Given the description of an element on the screen output the (x, y) to click on. 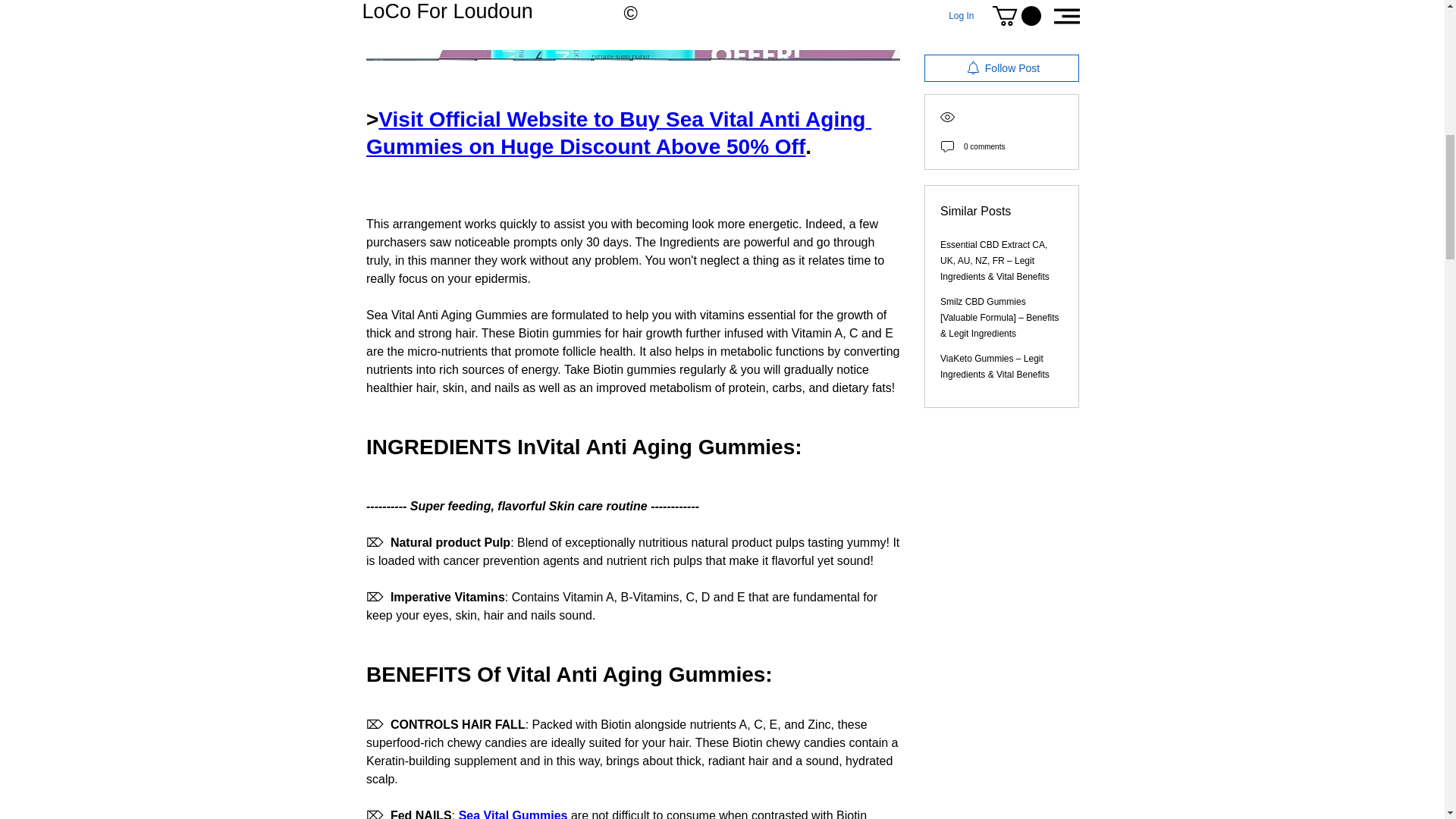
Sea Vital Gummies (512, 814)
